Given the description of an element on the screen output the (x, y) to click on. 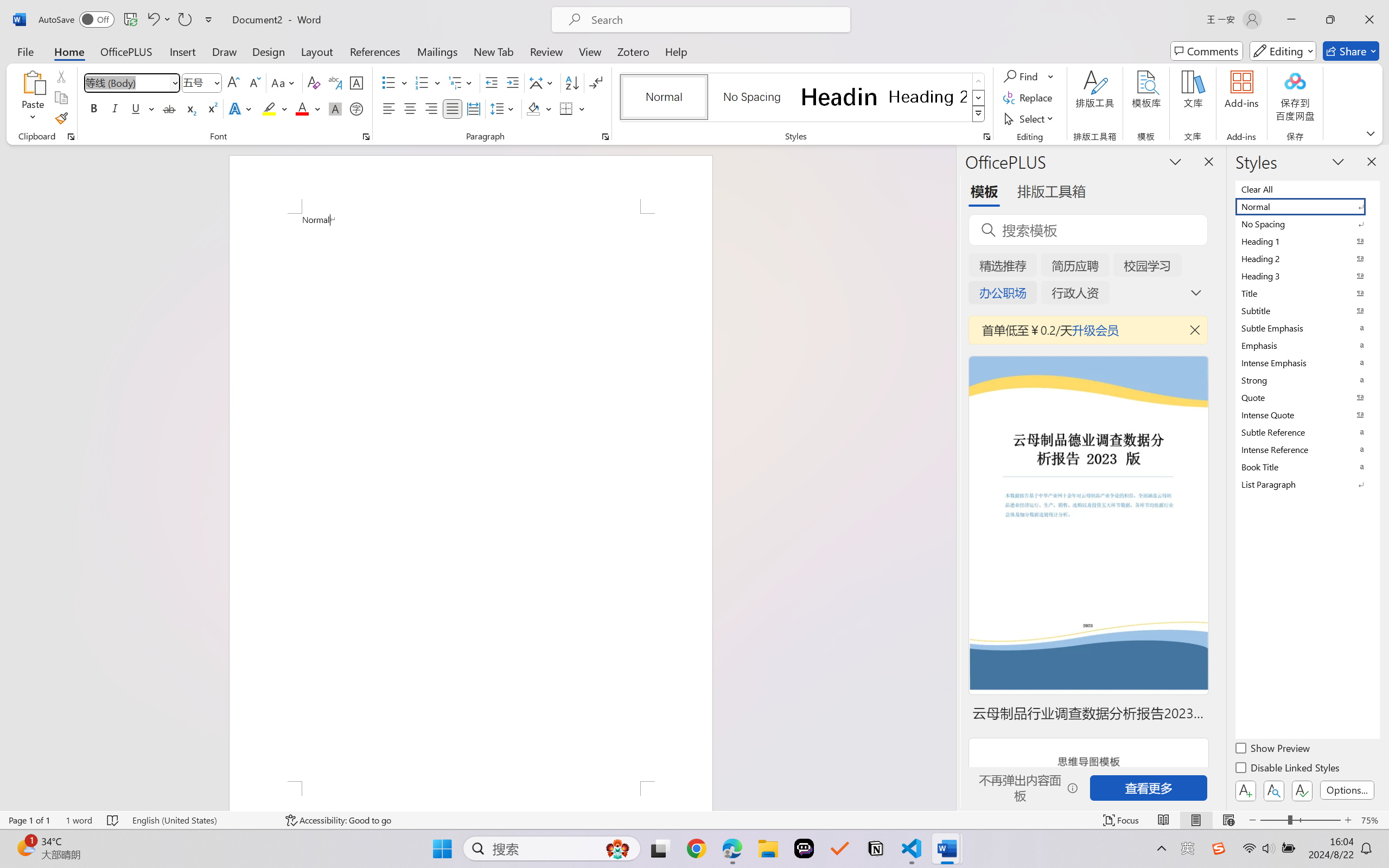
Open (215, 82)
Task Pane Options (1175, 161)
AutomationID: BadgeAnchorLargeTicker (24, 847)
Line and Paragraph Spacing (503, 108)
Numbering (428, 82)
Cut (60, 75)
Center (409, 108)
Paste (33, 81)
Text Highlight Color (274, 108)
Print Layout (1196, 819)
Zoom (1300, 819)
